Given the description of an element on the screen output the (x, y) to click on. 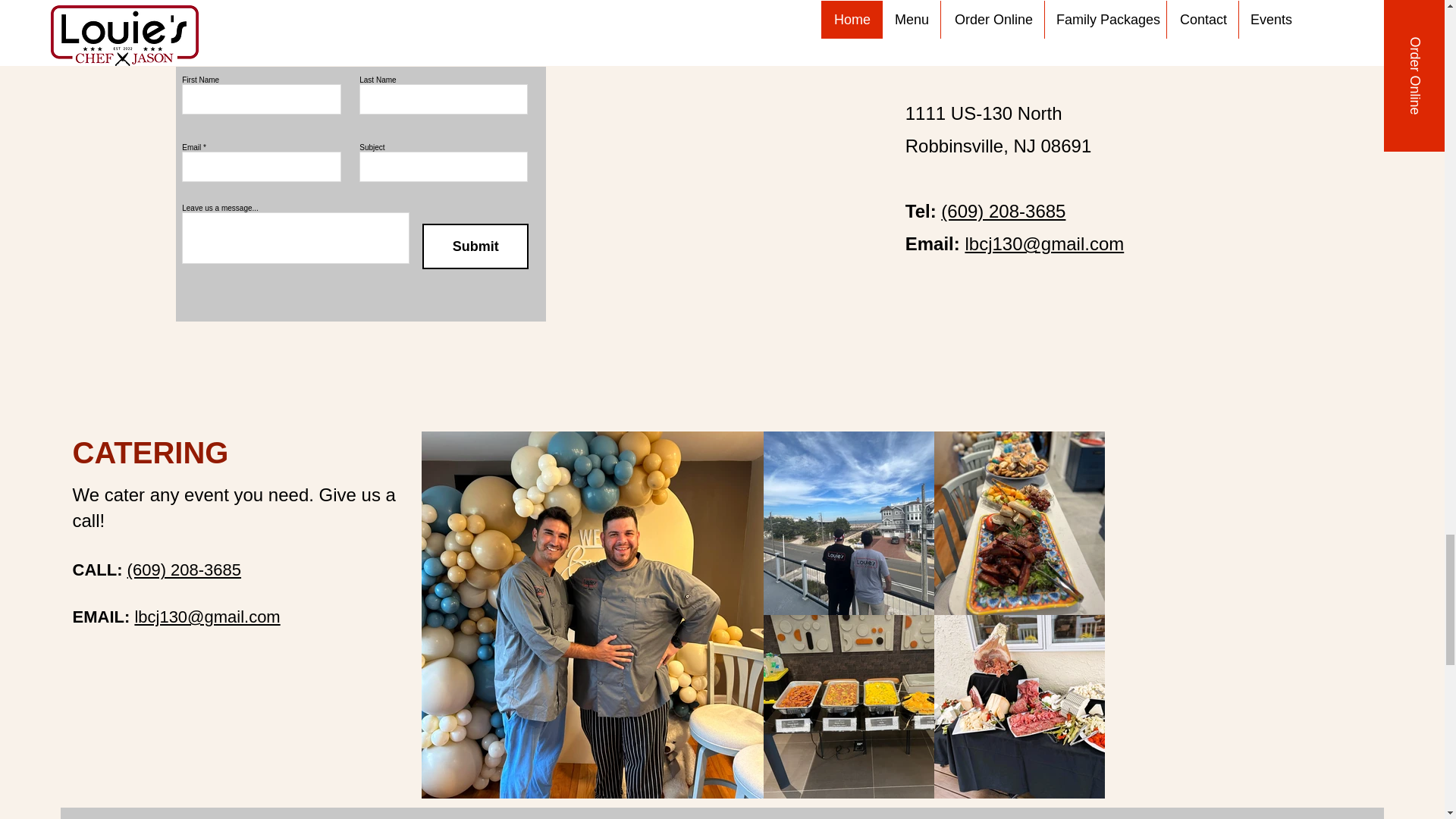
Submit (475, 246)
